Given the description of an element on the screen output the (x, y) to click on. 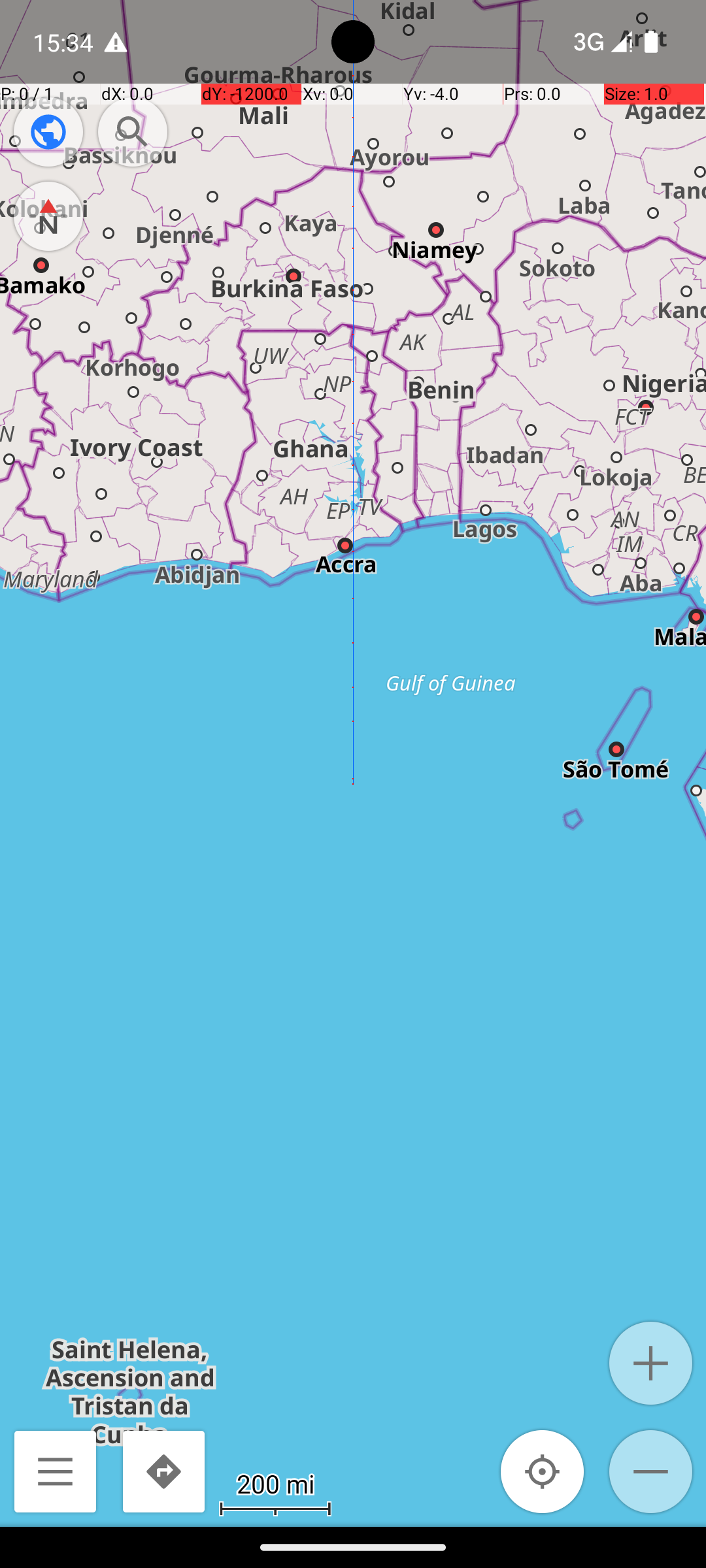
North is up Element type: android.widget.ImageButton (48, 216)
